Given the description of an element on the screen output the (x, y) to click on. 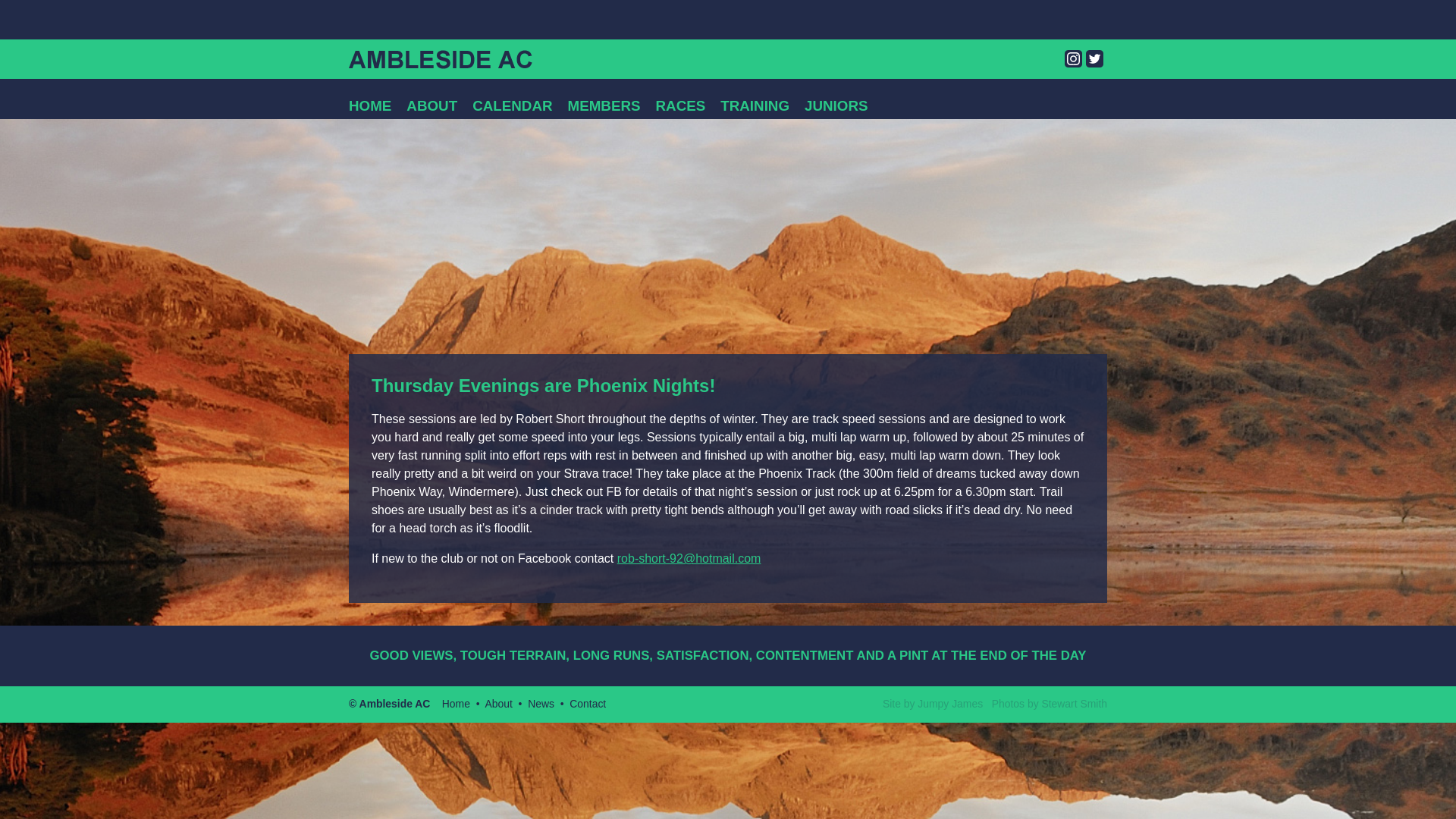
Follow us on Instagram (1072, 58)
Follow us on Twitter (1094, 58)
HOME (370, 103)
MEMBERS (603, 103)
CALENDAR (511, 103)
Ambleside AC (440, 58)
Follow us on Instagram (1072, 58)
Ambleside AC (440, 58)
RACES (681, 103)
ABOUT (431, 103)
Follow us on Twitter (1094, 58)
